Given the description of an element on the screen output the (x, y) to click on. 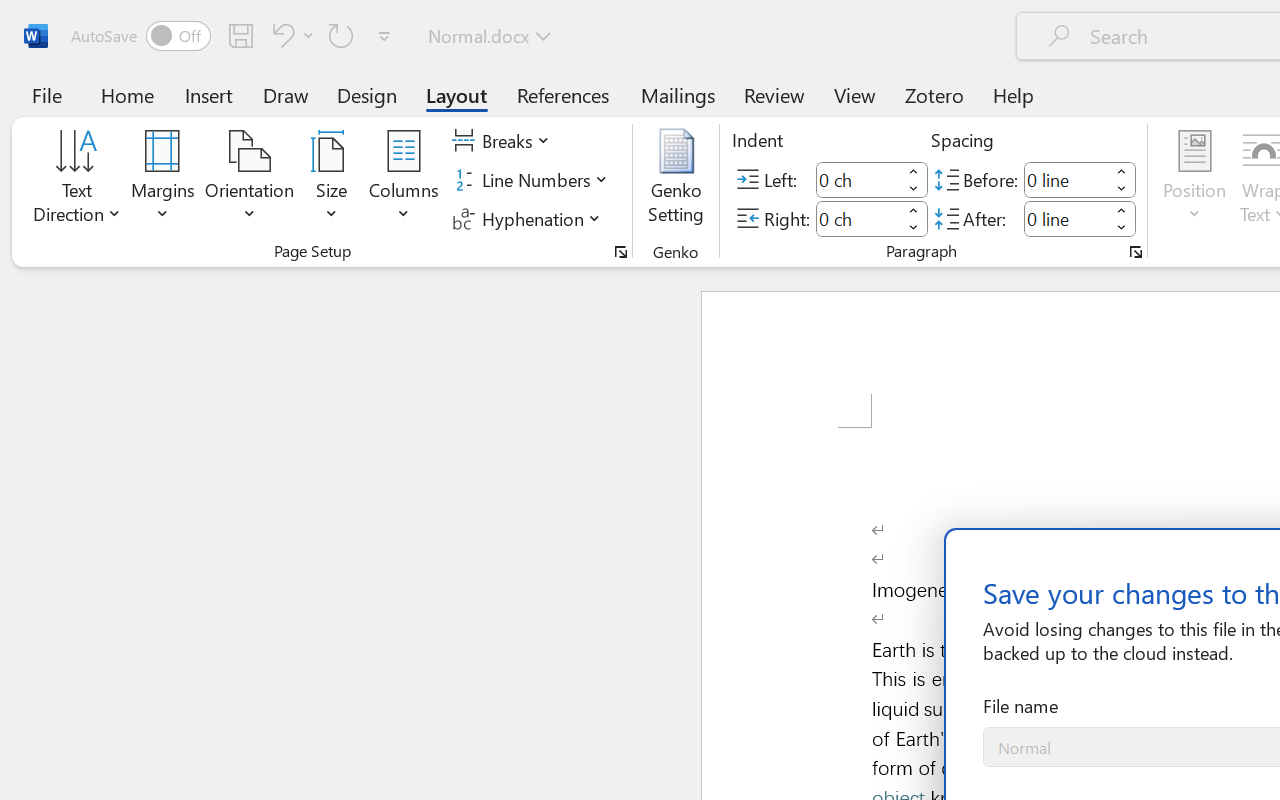
Page Setup... (621, 252)
Genko Setting... (676, 179)
Less (1121, 227)
Columns (404, 179)
Indent Right (858, 218)
Margins (163, 179)
Help (1013, 94)
Spacing Before (1066, 179)
More (1121, 210)
